Given the description of an element on the screen output the (x, y) to click on. 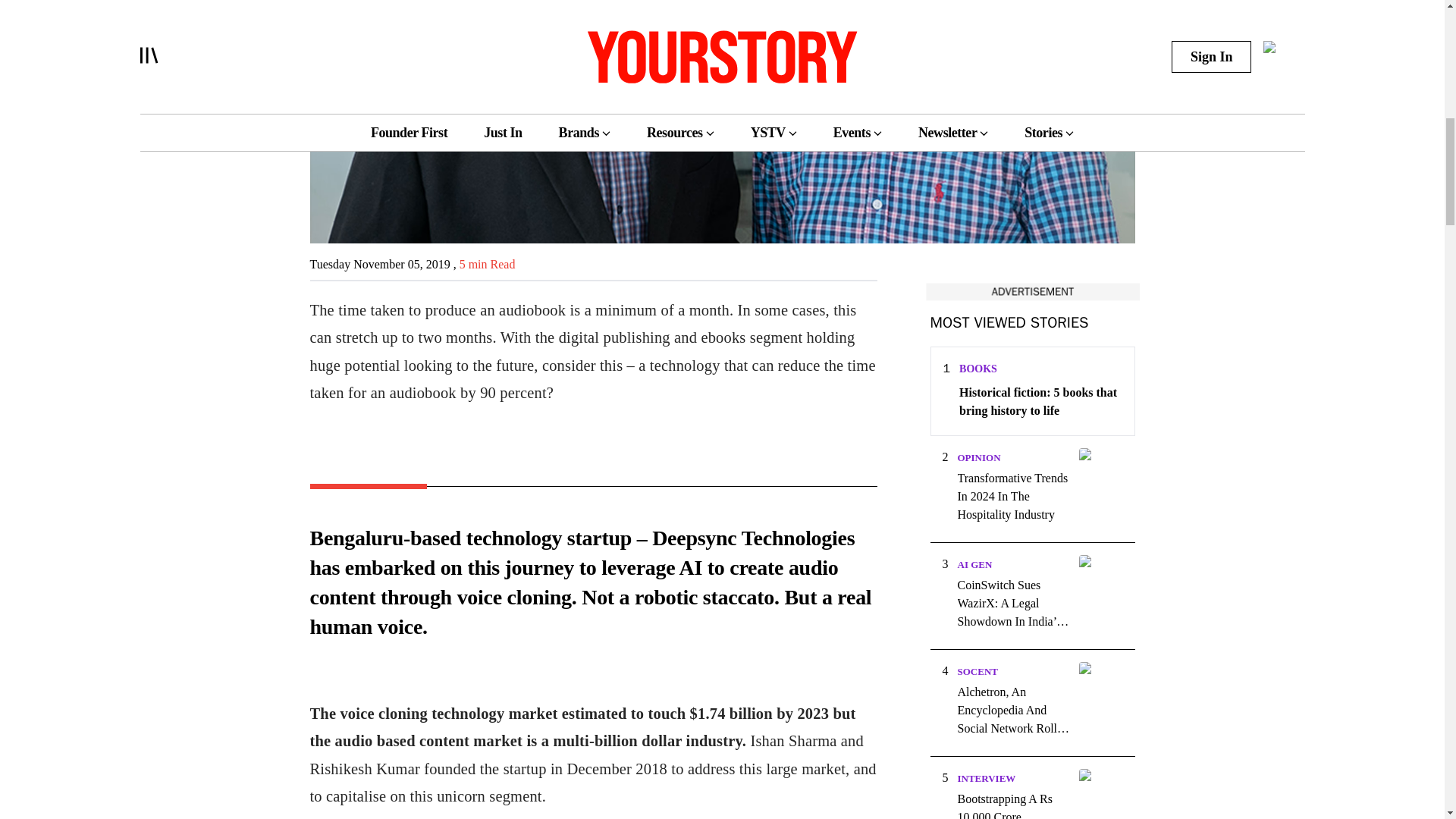
OPINION (978, 457)
Historical fiction: 5 books that bring history to life (1040, 402)
AI GEN (973, 564)
Transformative Trends In 2024 In The Hospitality Industry (1012, 496)
BOOKS (978, 368)
Advertise with us (1032, 291)
SOCENT (976, 671)
INTERVIEW (985, 778)
